Given the description of an element on the screen output the (x, y) to click on. 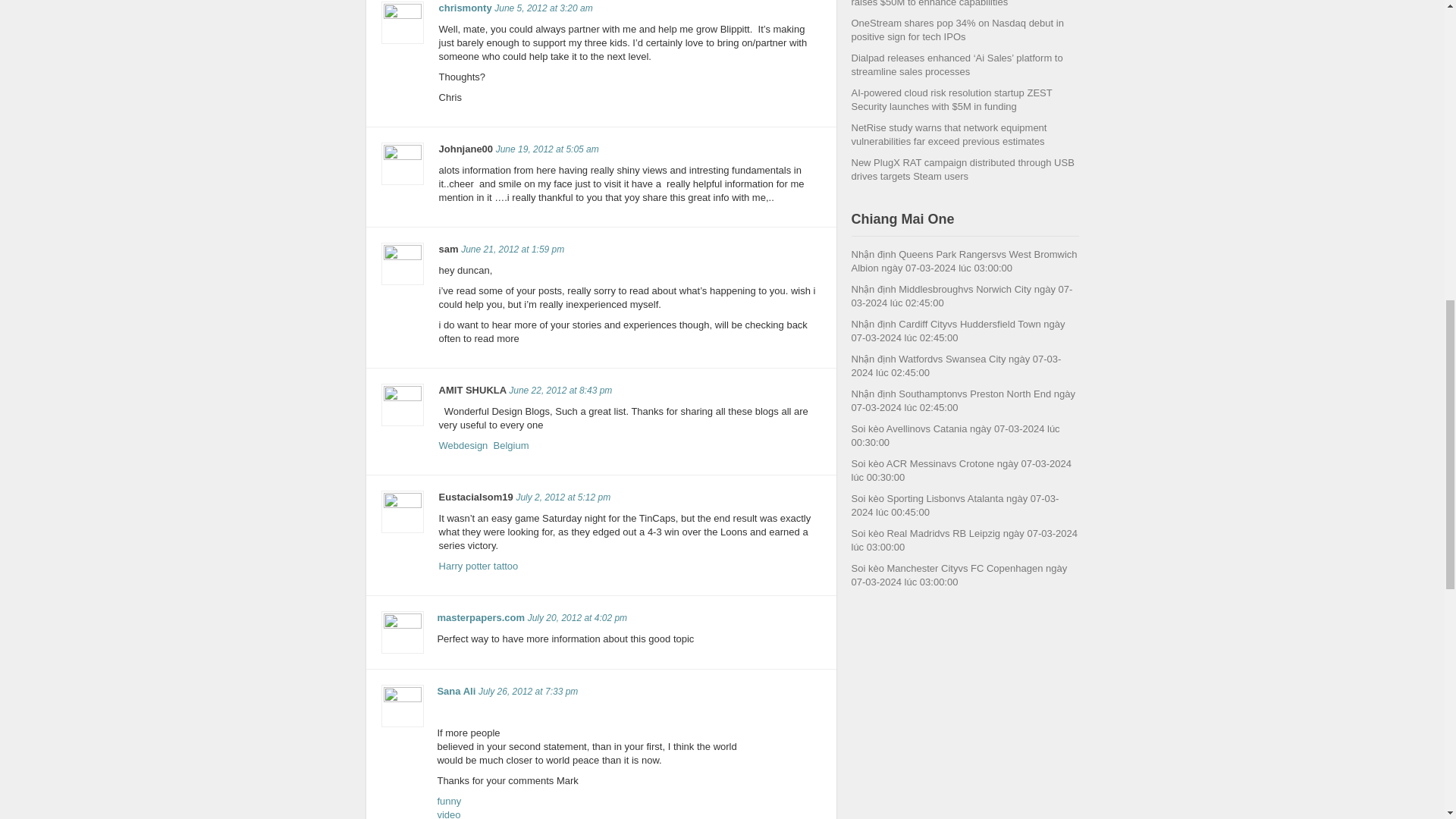
June 21, 2012 at 1:59 pm (448, 807)
masterpapers.com (512, 249)
July 26, 2012 at 7:33 pm (480, 617)
Permalink (528, 691)
July 2, 2012 at 5:12 pm (512, 249)
Webdesign  Belgium (562, 497)
June 5, 2012 at 3:20 am (484, 445)
June 22, 2012 at 8:43 pm (543, 8)
Permalink (559, 389)
